Given the description of an element on the screen output the (x, y) to click on. 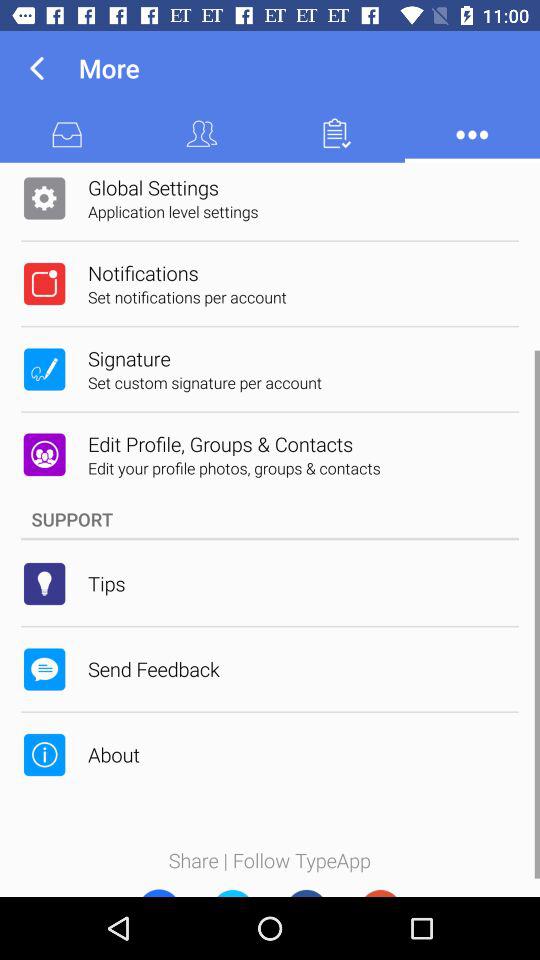
select the item above the about icon (153, 668)
